Given the description of an element on the screen output the (x, y) to click on. 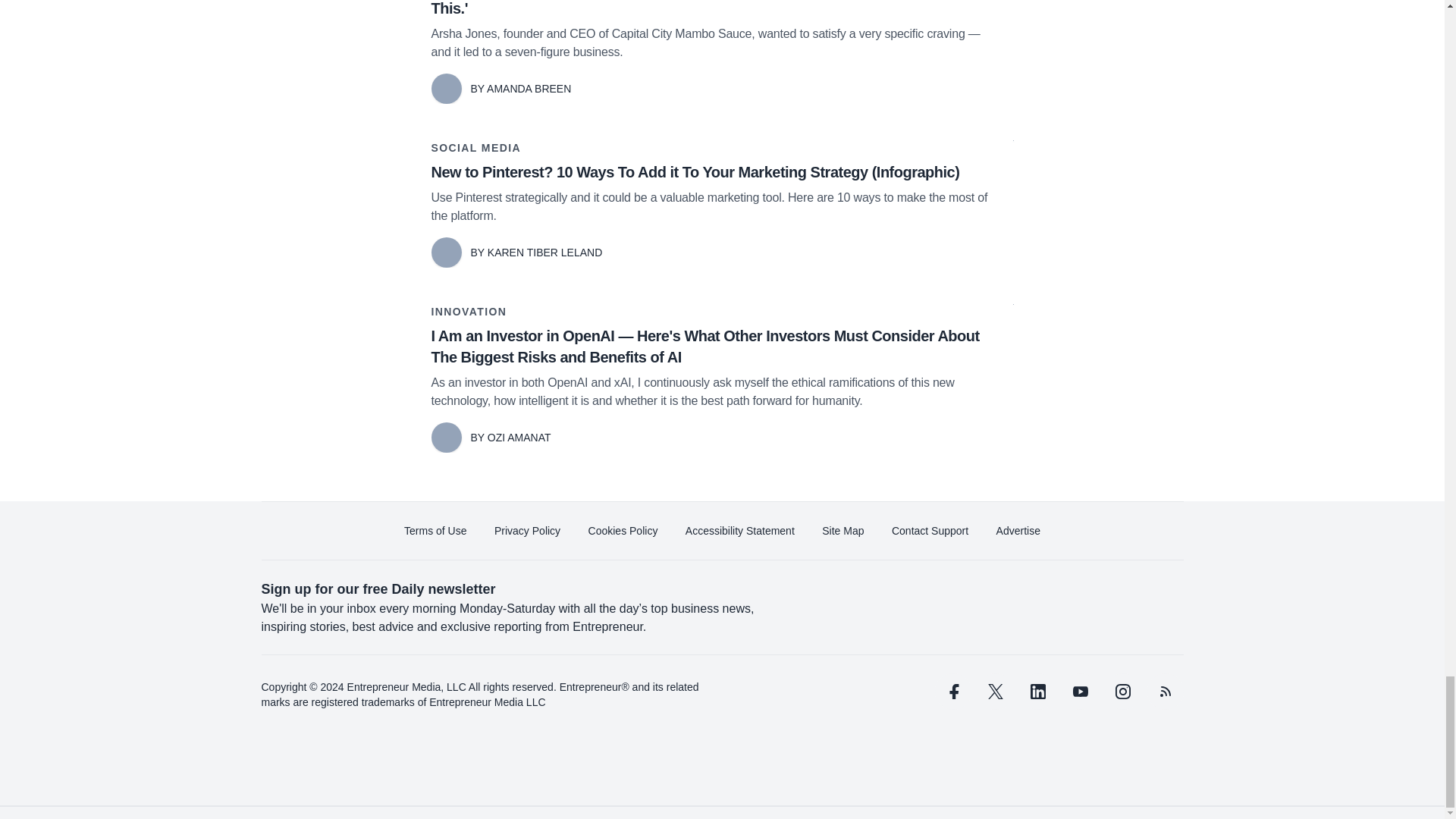
youtube (1079, 691)
linkedin (1037, 691)
facebook (952, 691)
rss (1164, 691)
twitter (994, 691)
instagram (1121, 691)
